Given the description of an element on the screen output the (x, y) to click on. 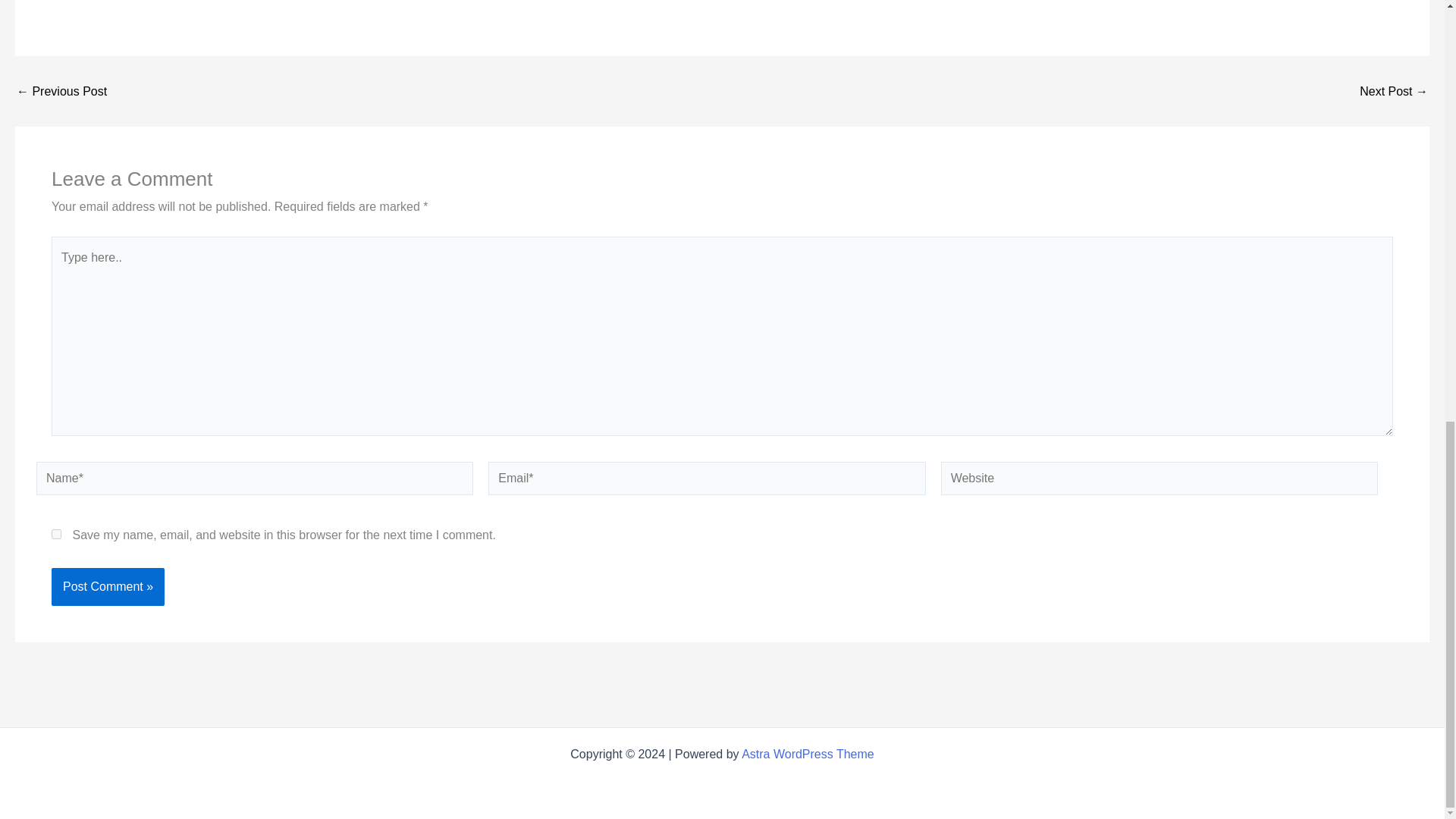
Addictions, Alcoholism and Trauma (61, 91)
Untreated Addiction, Families Can Recover! (1393, 91)
yes (55, 533)
